Given the description of an element on the screen output the (x, y) to click on. 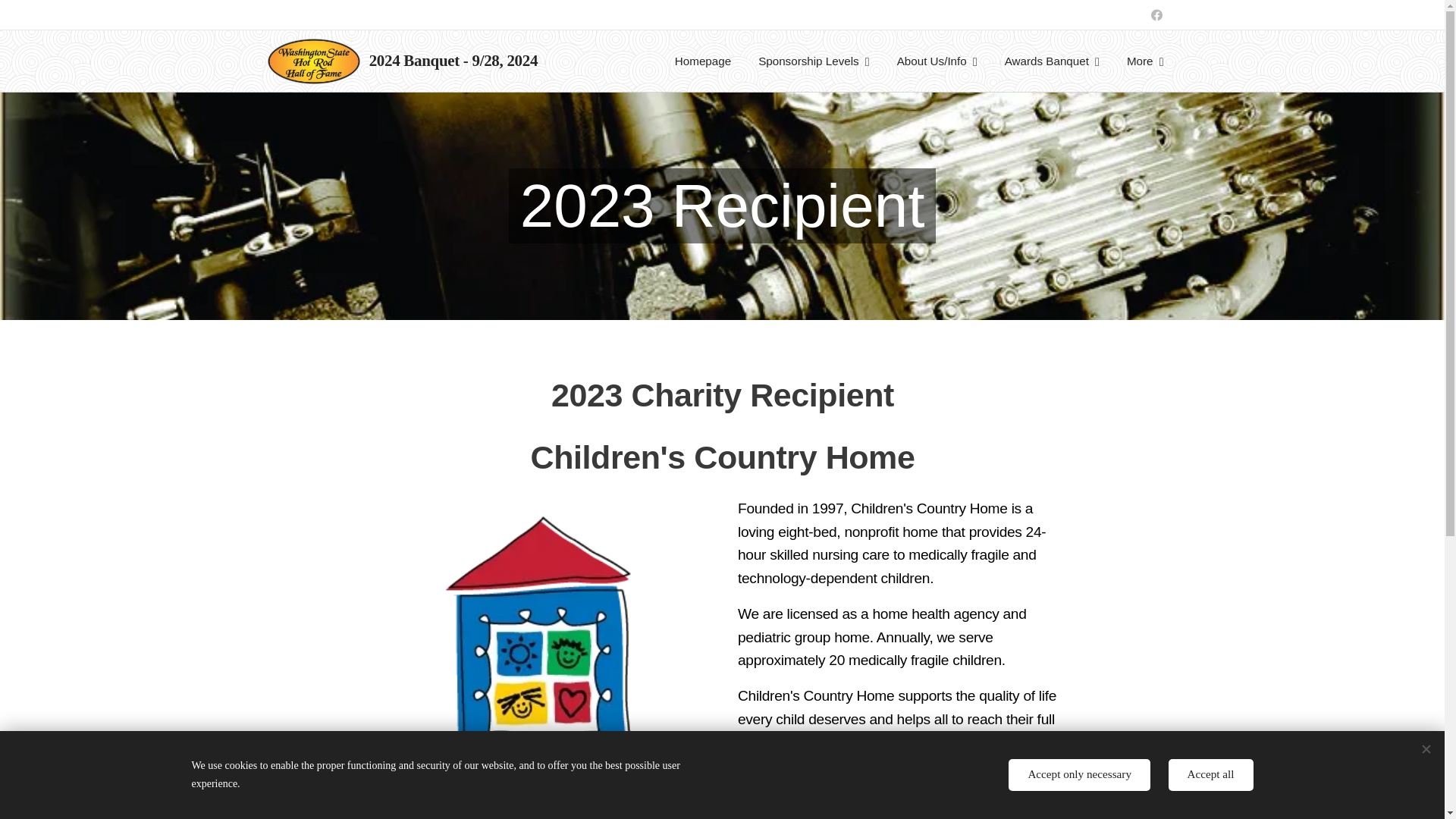
Homepage (702, 61)
Sponsorship Levels (813, 61)
Awards Banquet (1052, 61)
